Given the description of an element on the screen output the (x, y) to click on. 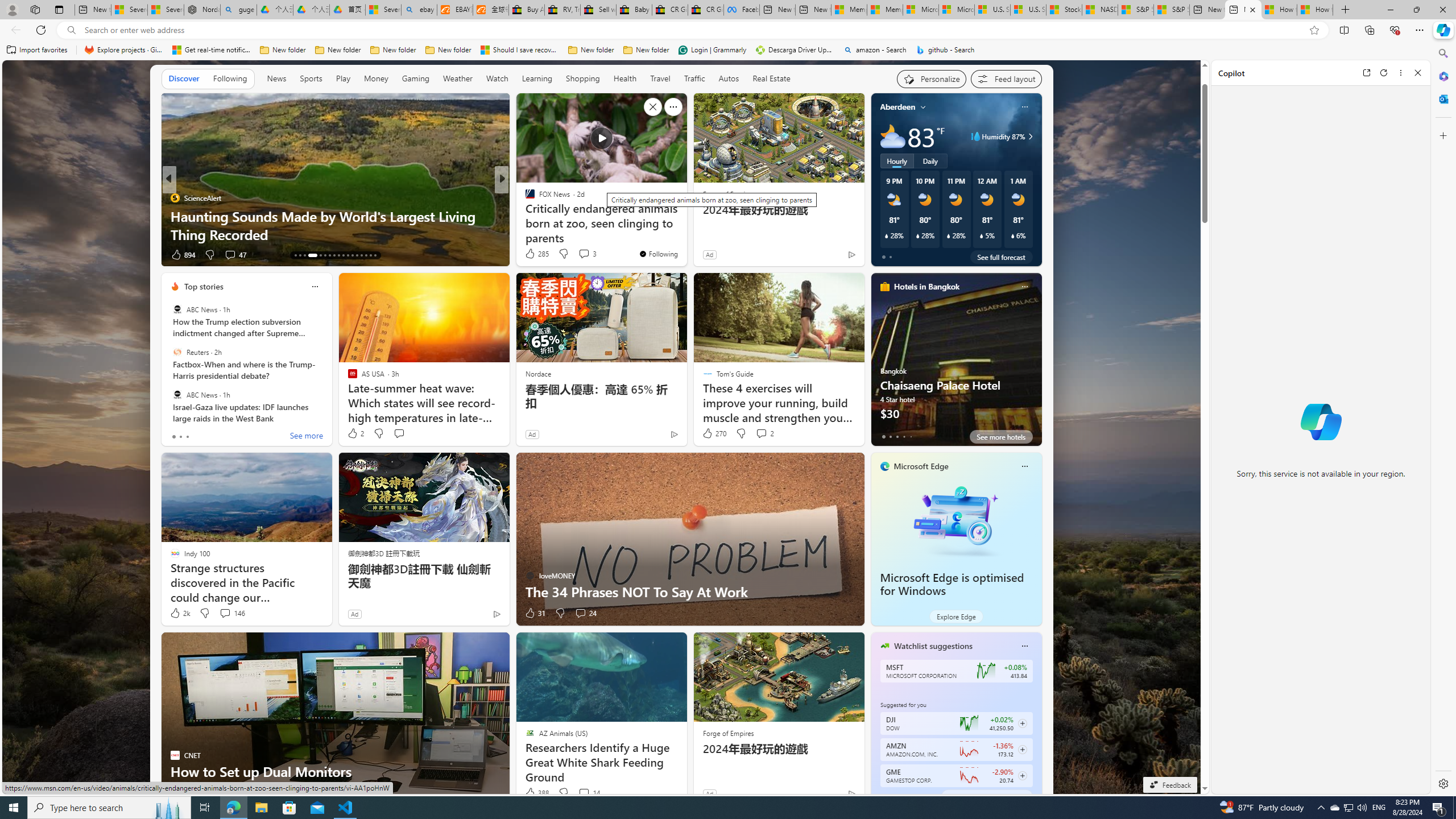
Learning (537, 79)
AutomationID: tab-39 (361, 255)
285 Like (536, 253)
How to Wipe a Dell Laptop (684, 234)
tab-3 (903, 795)
Microsoft 365 (1442, 76)
Dislike (563, 792)
Yellowstone coyote not alone; can you spot the other mammal? (684, 225)
Top stories (203, 286)
AutomationID: tab-41 (370, 255)
AutomationID: tab-15 (304, 255)
